Given the description of an element on the screen output the (x, y) to click on. 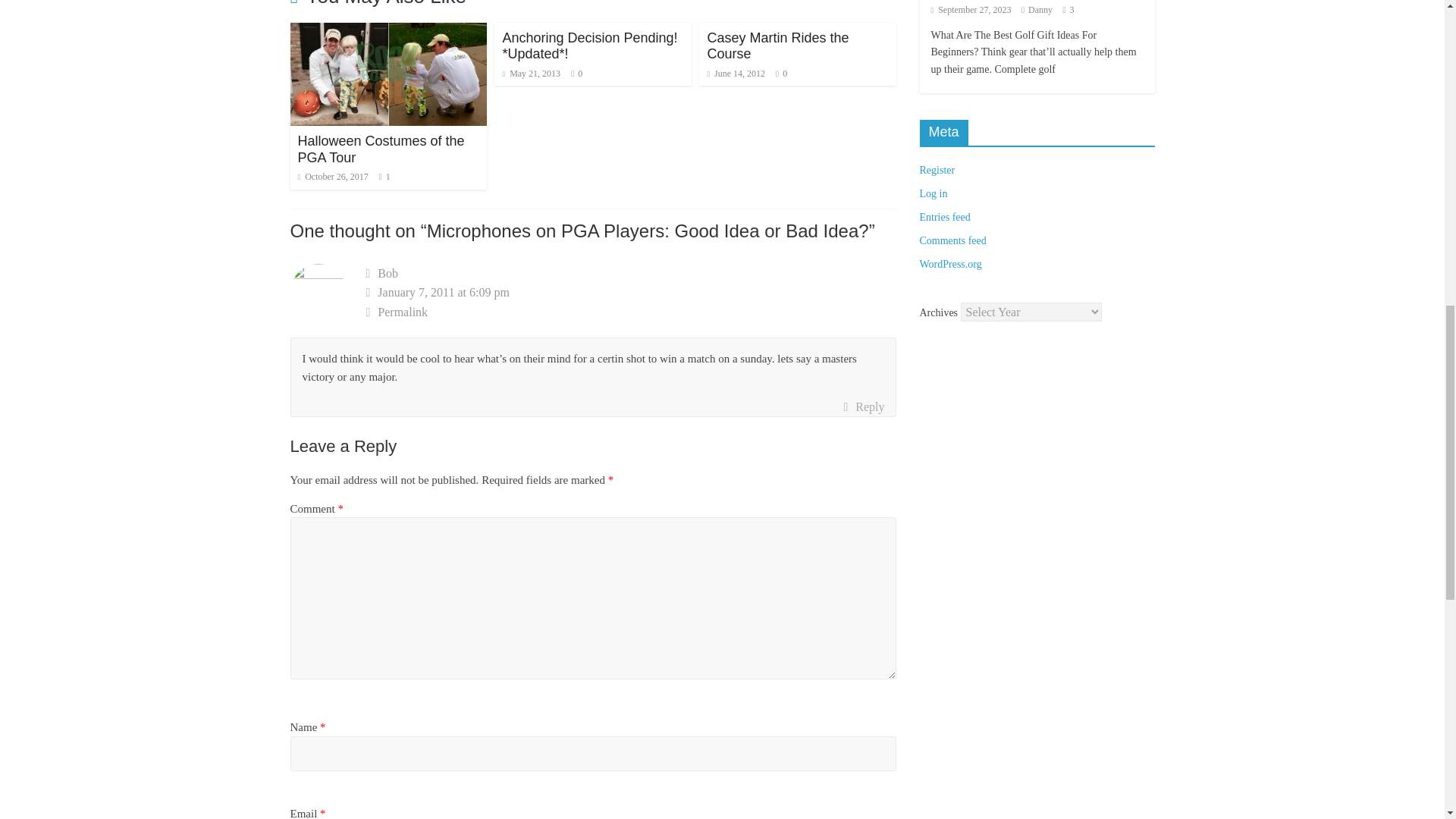
Halloween Costumes of the PGA Tour (387, 31)
11:48 am (332, 176)
Halloween Costumes of the PGA Tour (380, 149)
